Given the description of an element on the screen output the (x, y) to click on. 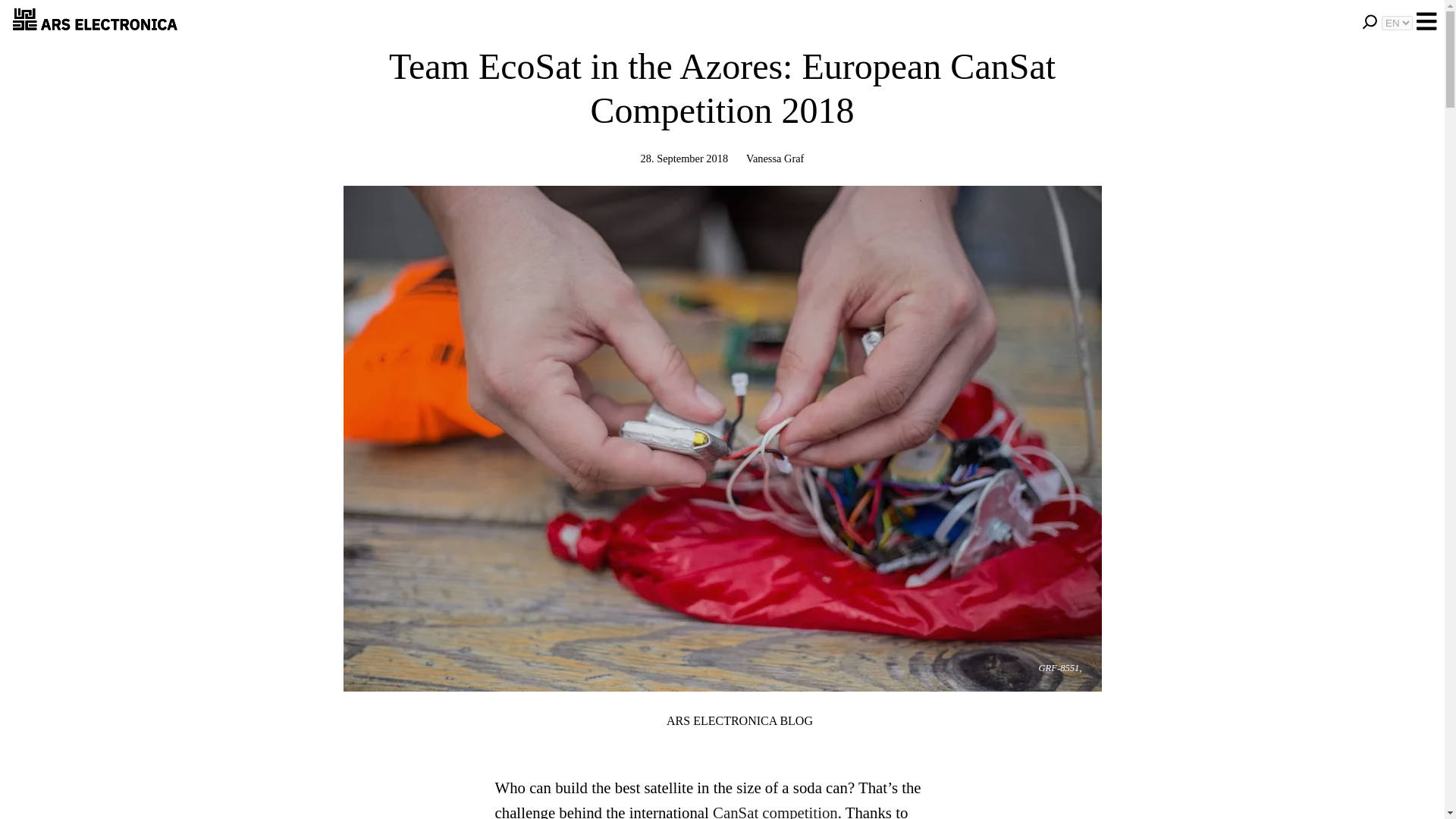
Ars Electronica (95, 21)
Ars Electronica (642, 721)
